Given the description of an element on the screen output the (x, y) to click on. 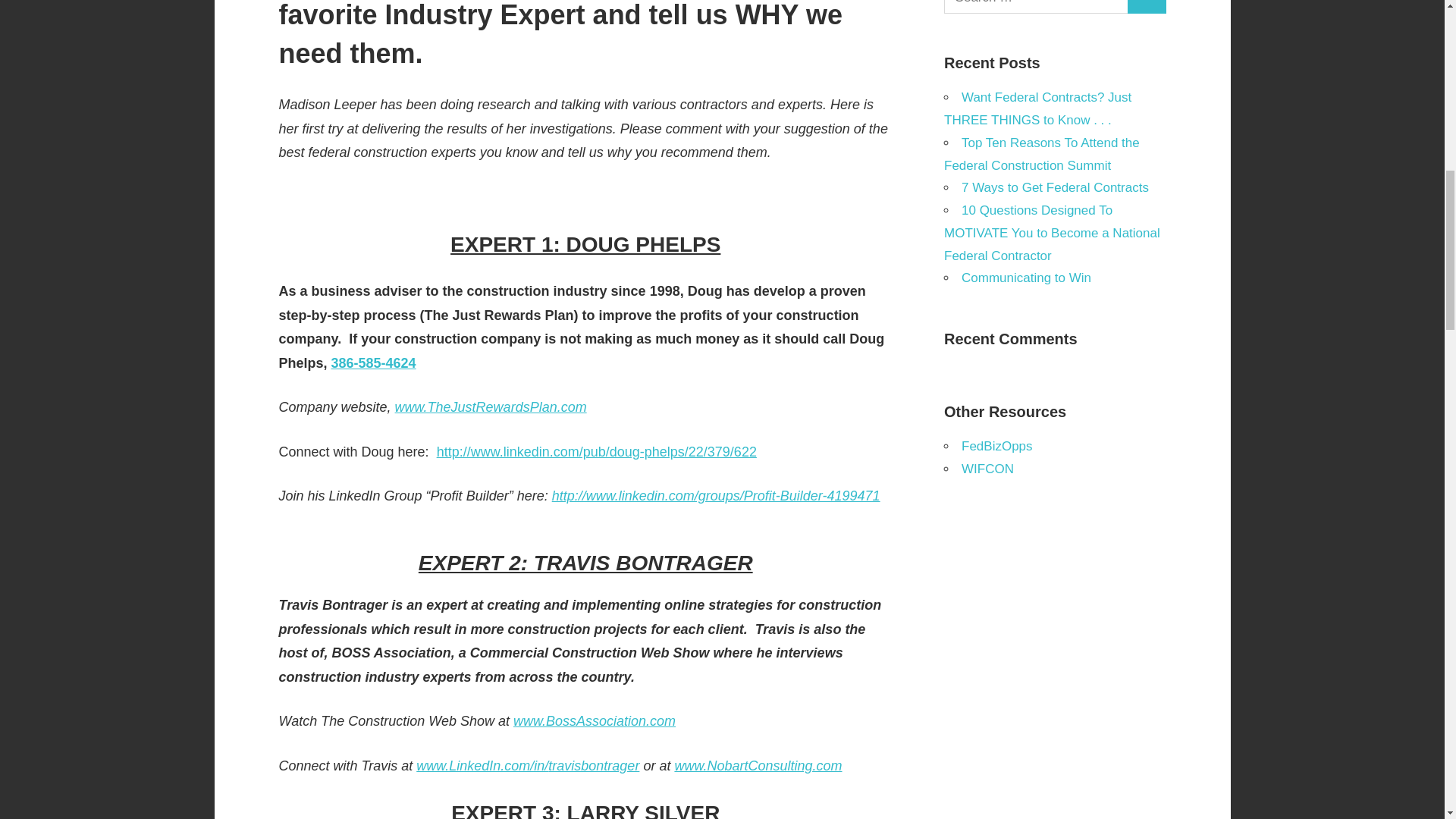
386-585-4624 (373, 363)
www.TheJustRewardsPlan.com (490, 406)
www.NobartConsulting.com (757, 765)
Search for: (1035, 7)
www.BossAssociation.com (594, 720)
